Given the description of an element on the screen output the (x, y) to click on. 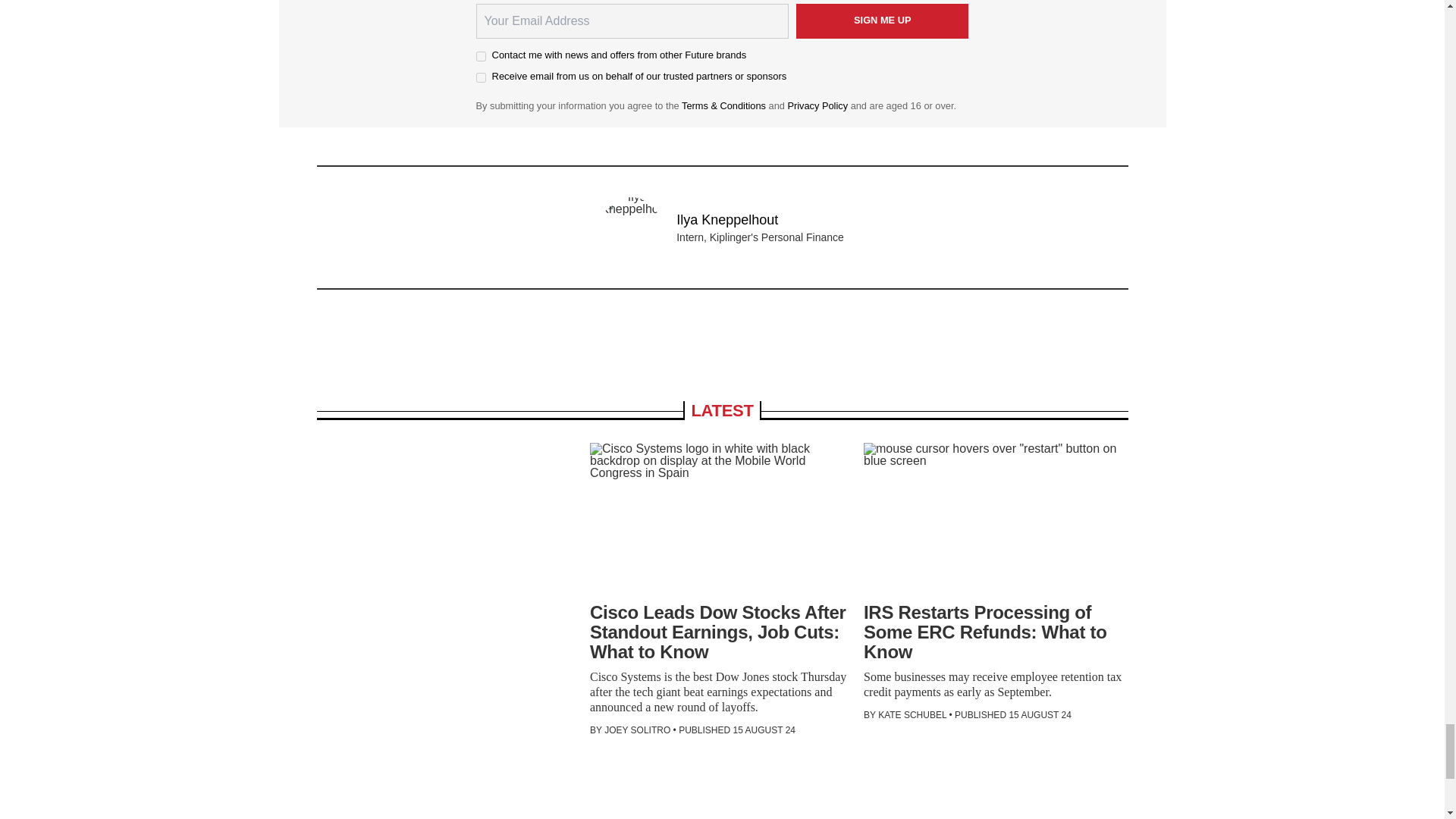
on (481, 77)
Sign me up (882, 21)
on (481, 56)
